Given the description of an element on the screen output the (x, y) to click on. 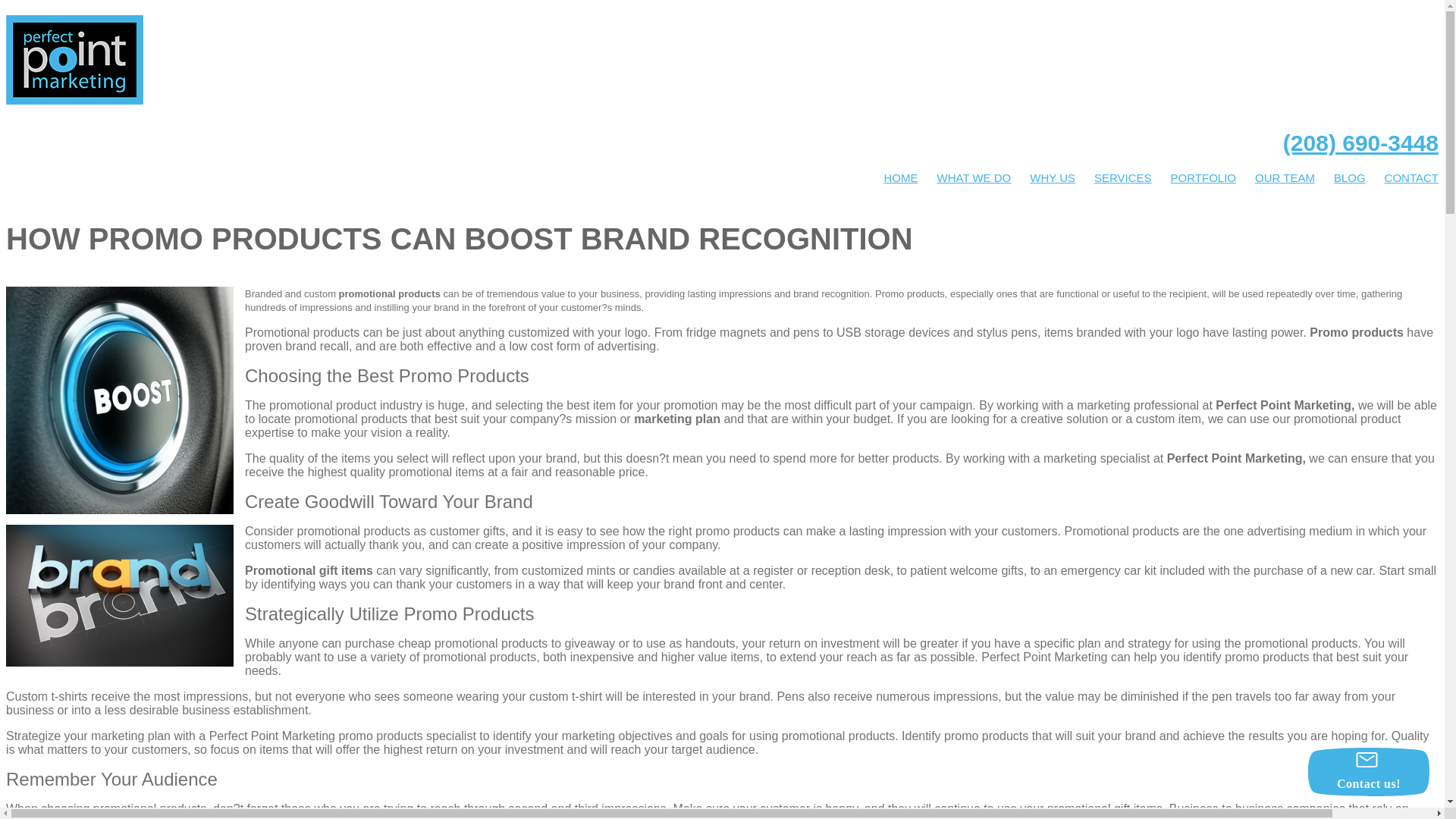
WHAT WE DO (963, 177)
SERVICES (1113, 177)
WHY US (1042, 177)
HOME (890, 177)
